Given the description of an element on the screen output the (x, y) to click on. 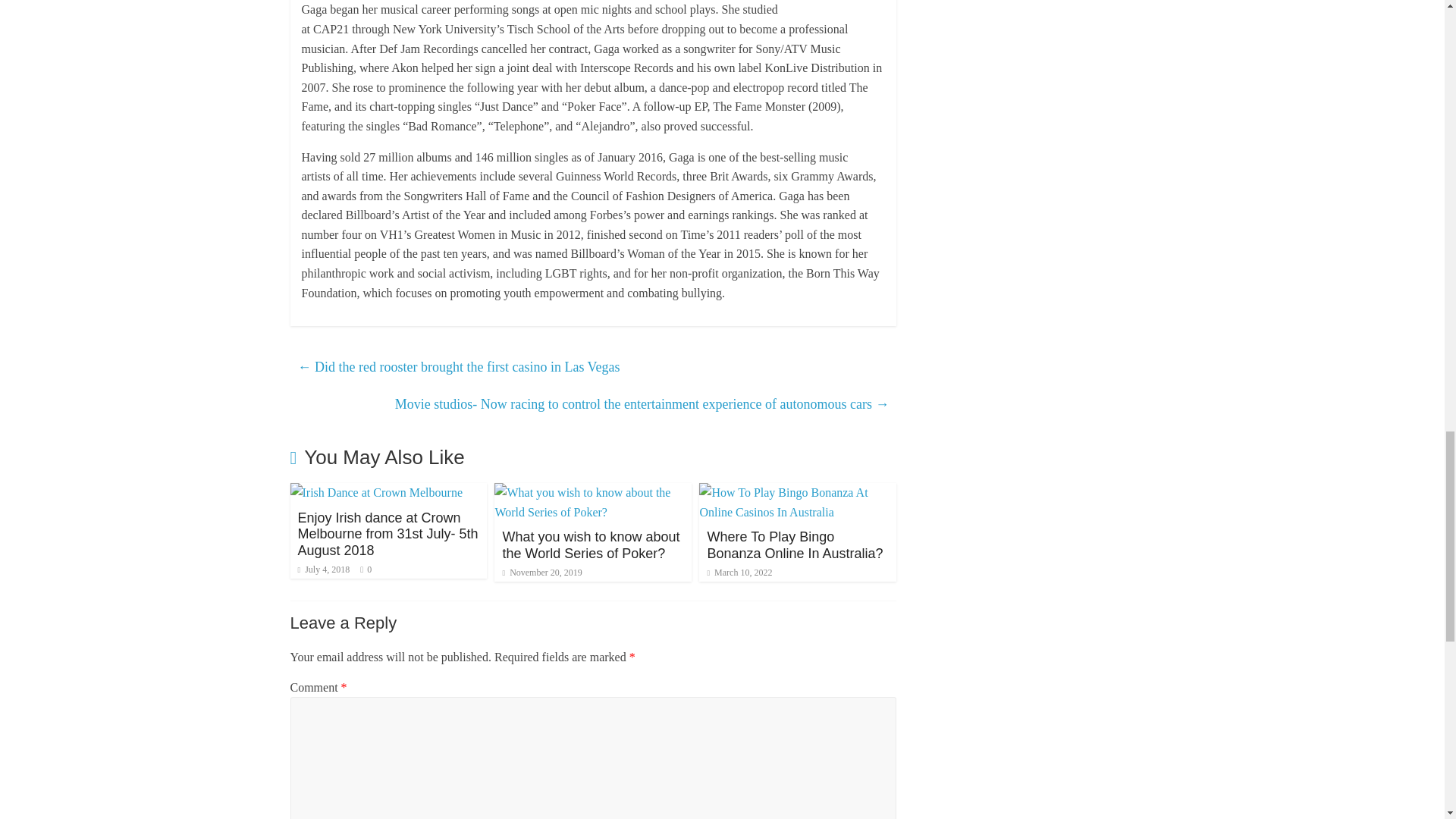
July 4, 2018 (323, 569)
What you wish to know about the World Series of Poker? (590, 545)
March 10, 2022 (738, 572)
5:24 am (323, 569)
4:31 am (541, 572)
November 20, 2019 (541, 572)
Where To Play Bingo Bonanza Online In Australia? (794, 545)
